Given the description of an element on the screen output the (x, y) to click on. 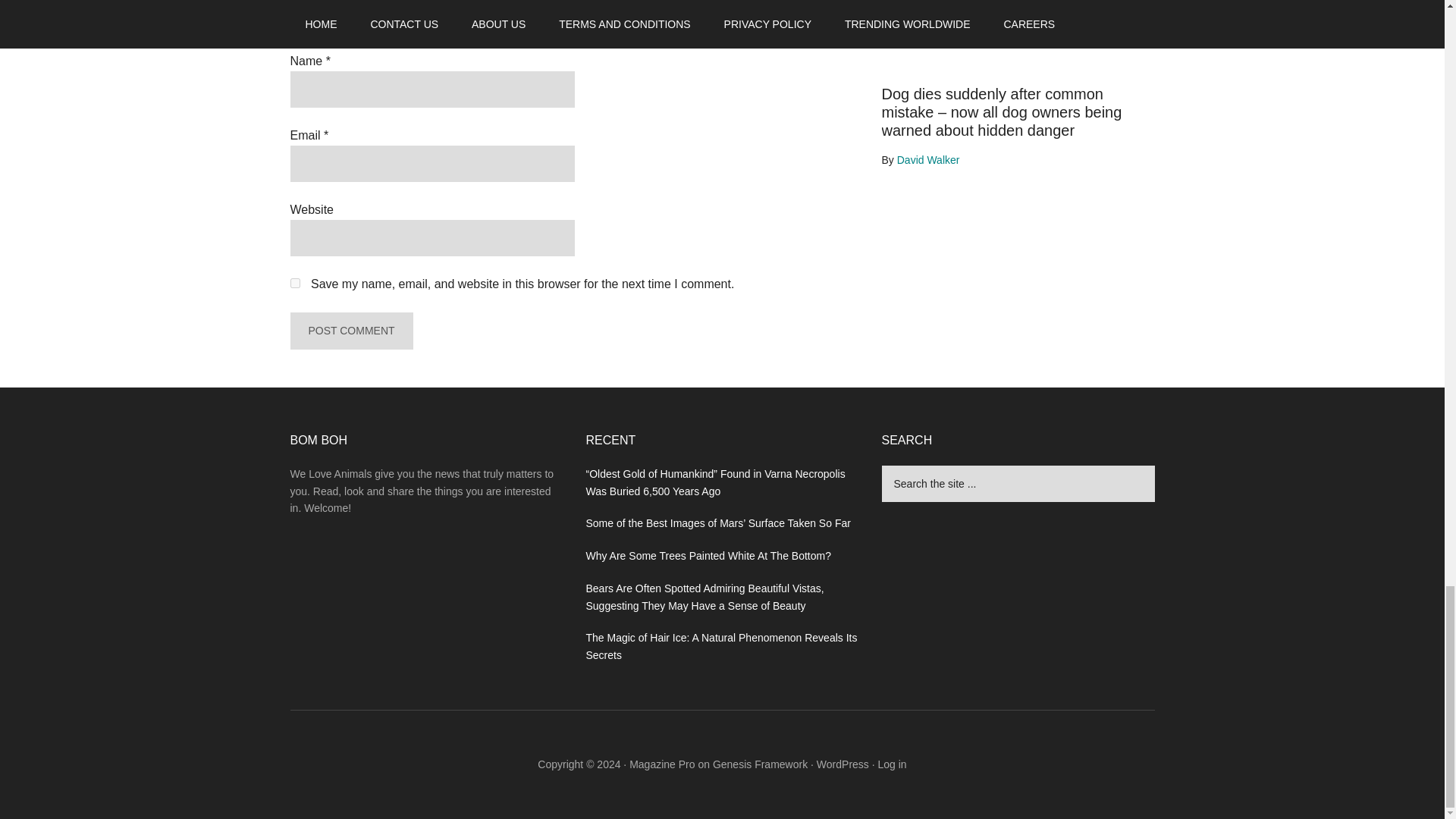
Post Comment (350, 330)
yes (294, 283)
Post Comment (350, 330)
